Given the description of an element on the screen output the (x, y) to click on. 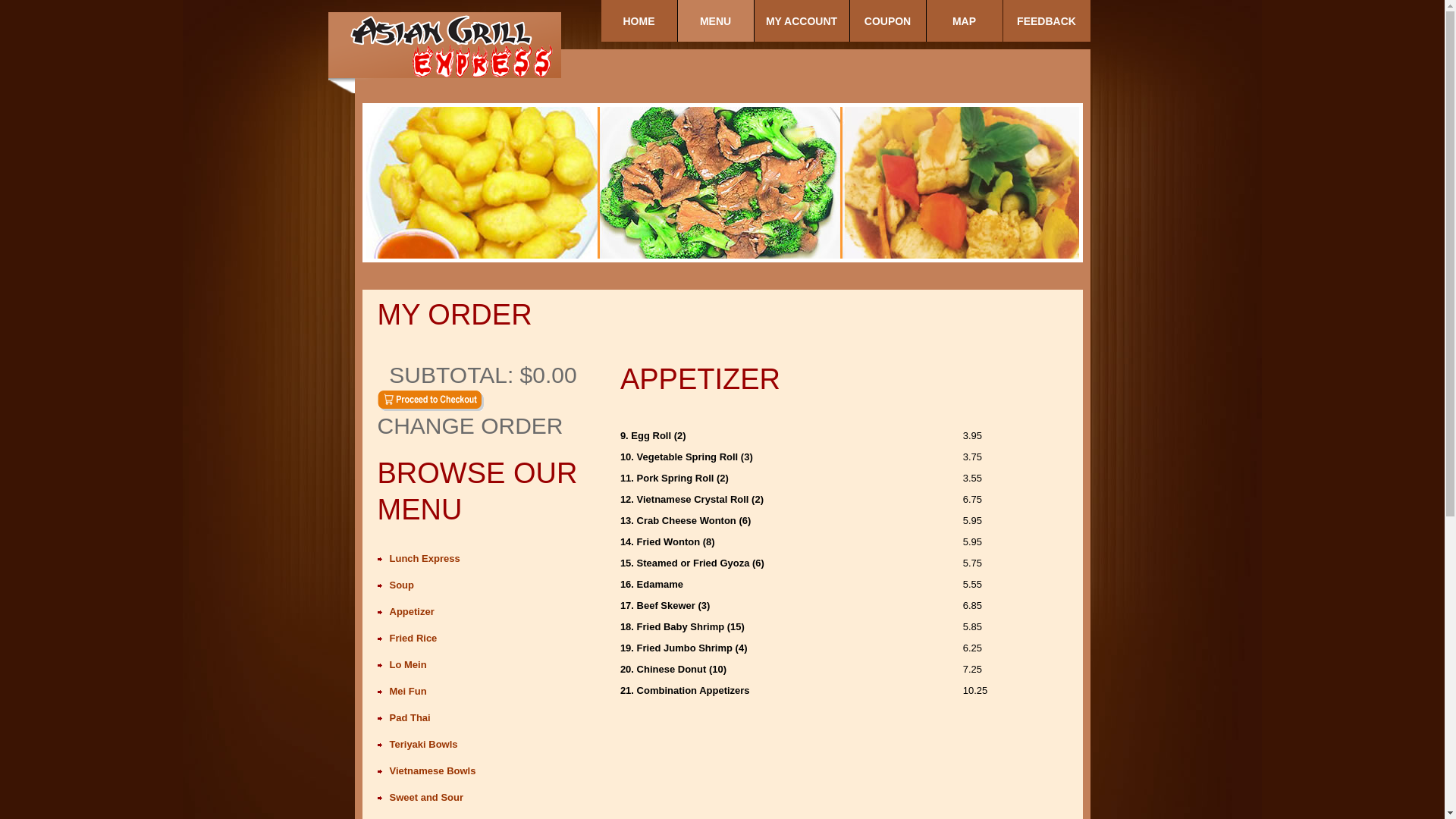
Vietnamese Bowls Element type: text (432, 770)
HOME Element type: text (638, 20)
MENU Element type: text (715, 20)
Teriyaki Bowls Element type: text (423, 743)
Mei Fun Element type: text (407, 690)
MAP Element type: text (964, 20)
Pad Thai Element type: text (409, 717)
FEEDBACK Element type: text (1045, 20)
MY ACCOUNT Element type: text (800, 20)
Lo Mein Element type: text (407, 664)
Soup Element type: text (401, 584)
Fried Rice Element type: text (413, 637)
Sweet and Sour Element type: text (426, 797)
Appetizer Element type: text (411, 611)
Lunch Express Element type: text (424, 558)
CHANGE ORDER Element type: text (483, 436)
COUPON Element type: text (887, 20)
